Given the description of an element on the screen output the (x, y) to click on. 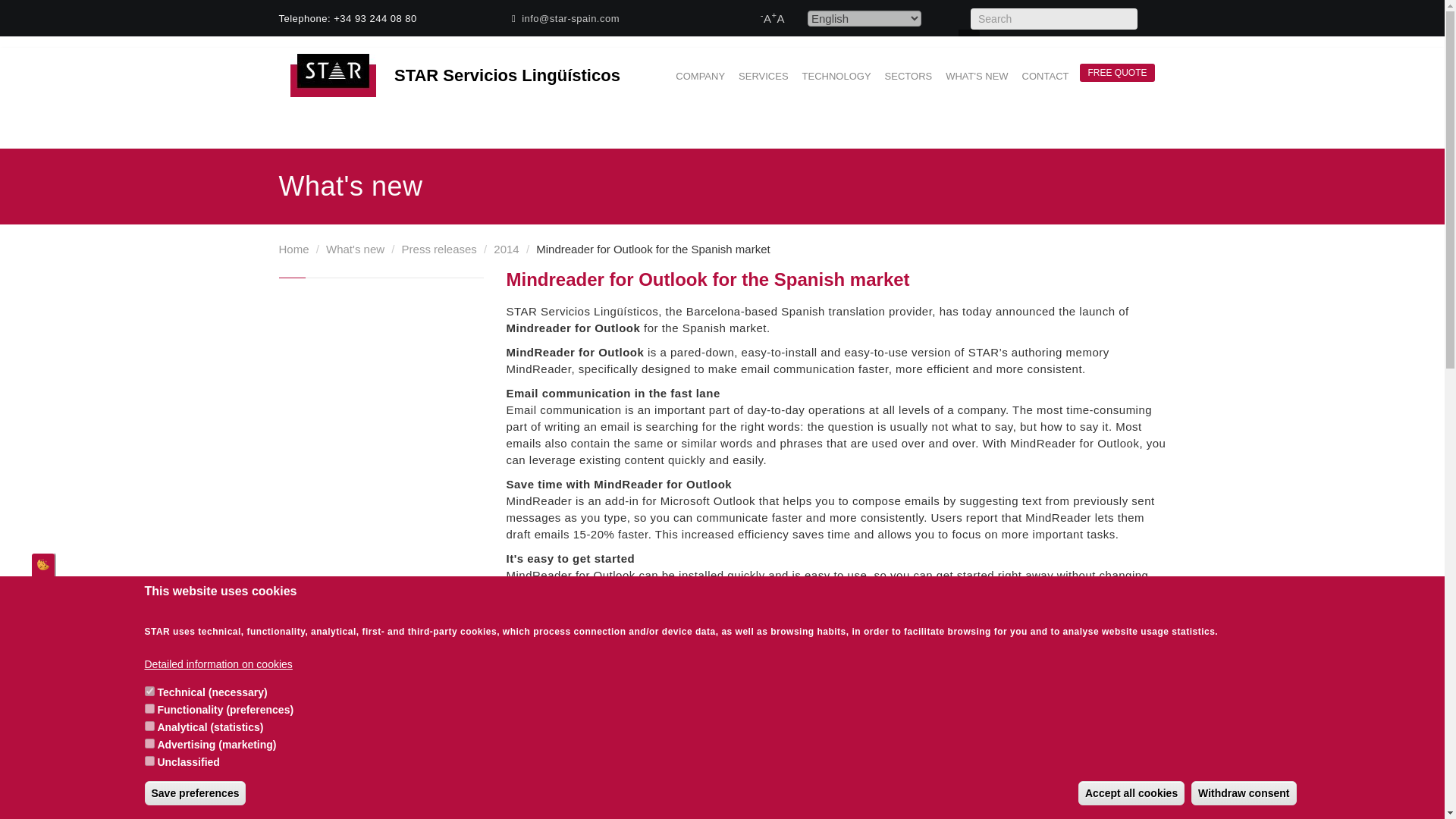
marketing (149, 743)
FREE QUOTE (1117, 72)
necessary (149, 691)
statistics (149, 726)
unclassified (149, 760)
Enter the terms you wish to search for. (1054, 18)
preferences (149, 708)
Home (338, 75)
Search (1155, 20)
